Given the description of an element on the screen output the (x, y) to click on. 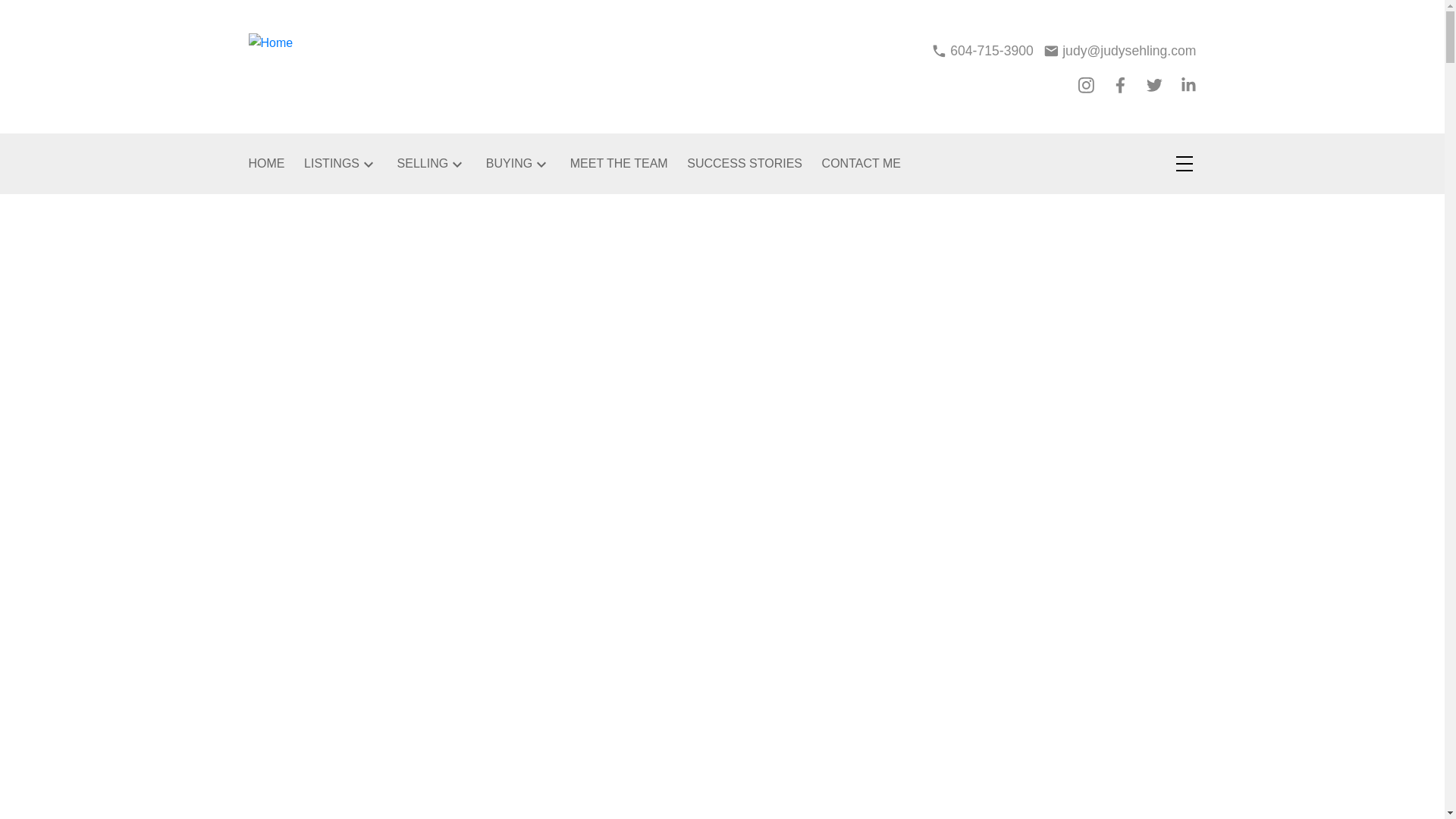
CONTACT ME (861, 163)
SUCCESS STORIES (744, 163)
BUYING (509, 163)
HOME (266, 163)
604-715-3900 (982, 50)
LISTINGS (331, 163)
Twitter (1154, 84)
LinkedIn (1188, 84)
Instagram (1086, 84)
MEET THE TEAM (619, 163)
